Given the description of an element on the screen output the (x, y) to click on. 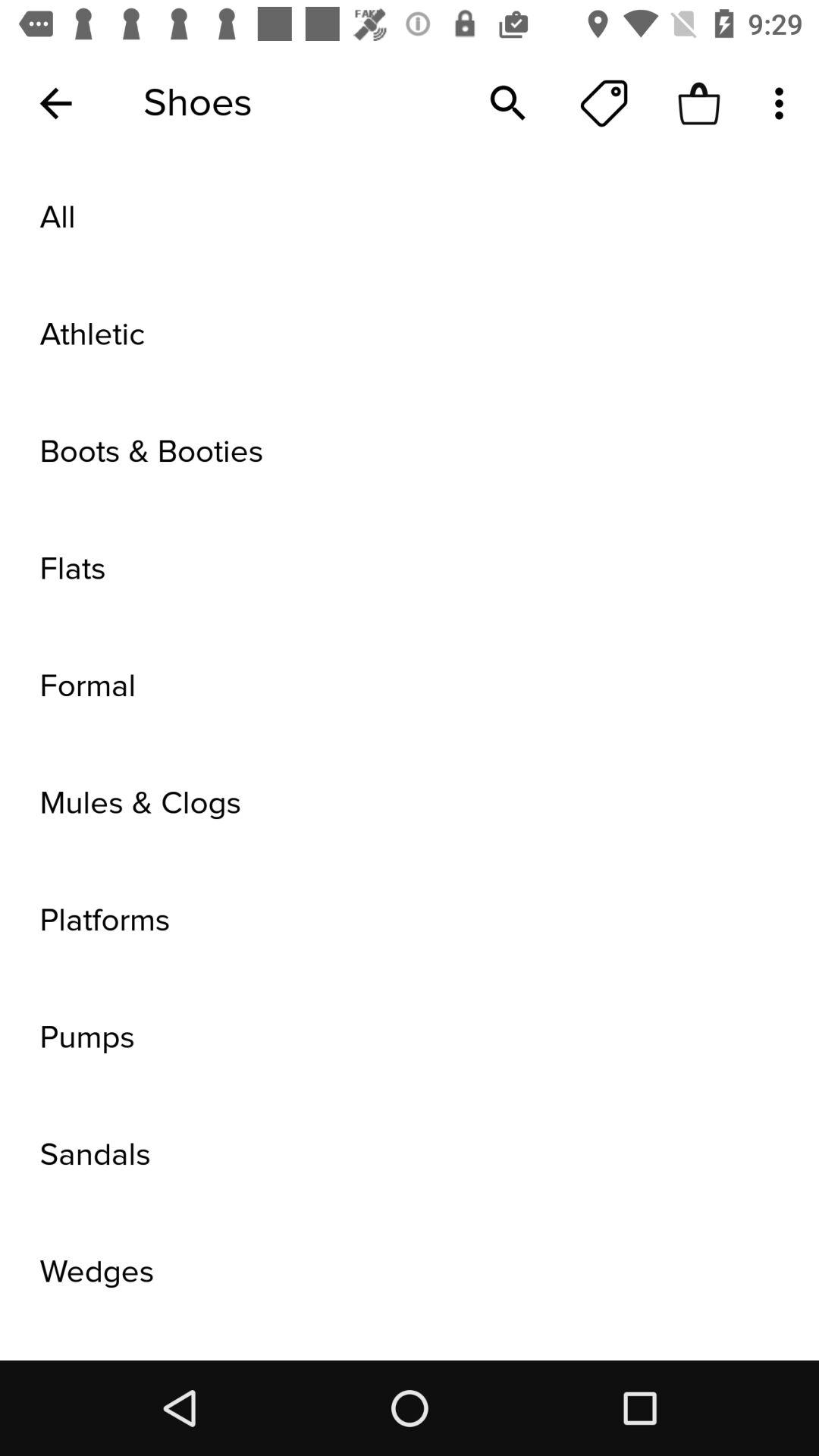
jump to formal item (409, 686)
